Given the description of an element on the screen output the (x, y) to click on. 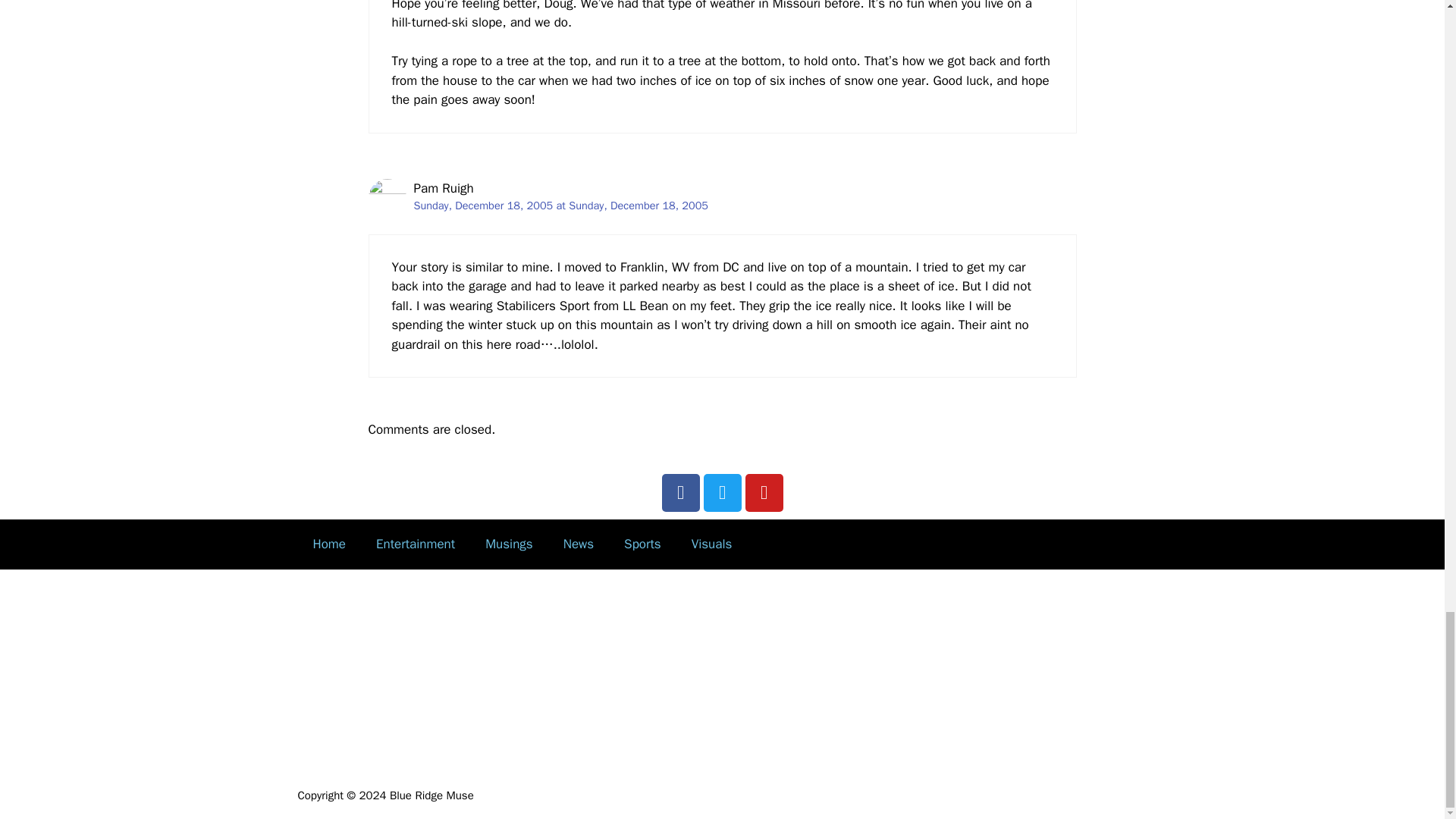
News (578, 544)
Musings (509, 544)
Sports (642, 544)
Sunday, December 18, 2005 at Sunday, December 18, 2005 (561, 205)
Home (328, 544)
Entertainment (415, 544)
